Given the description of an element on the screen output the (x, y) to click on. 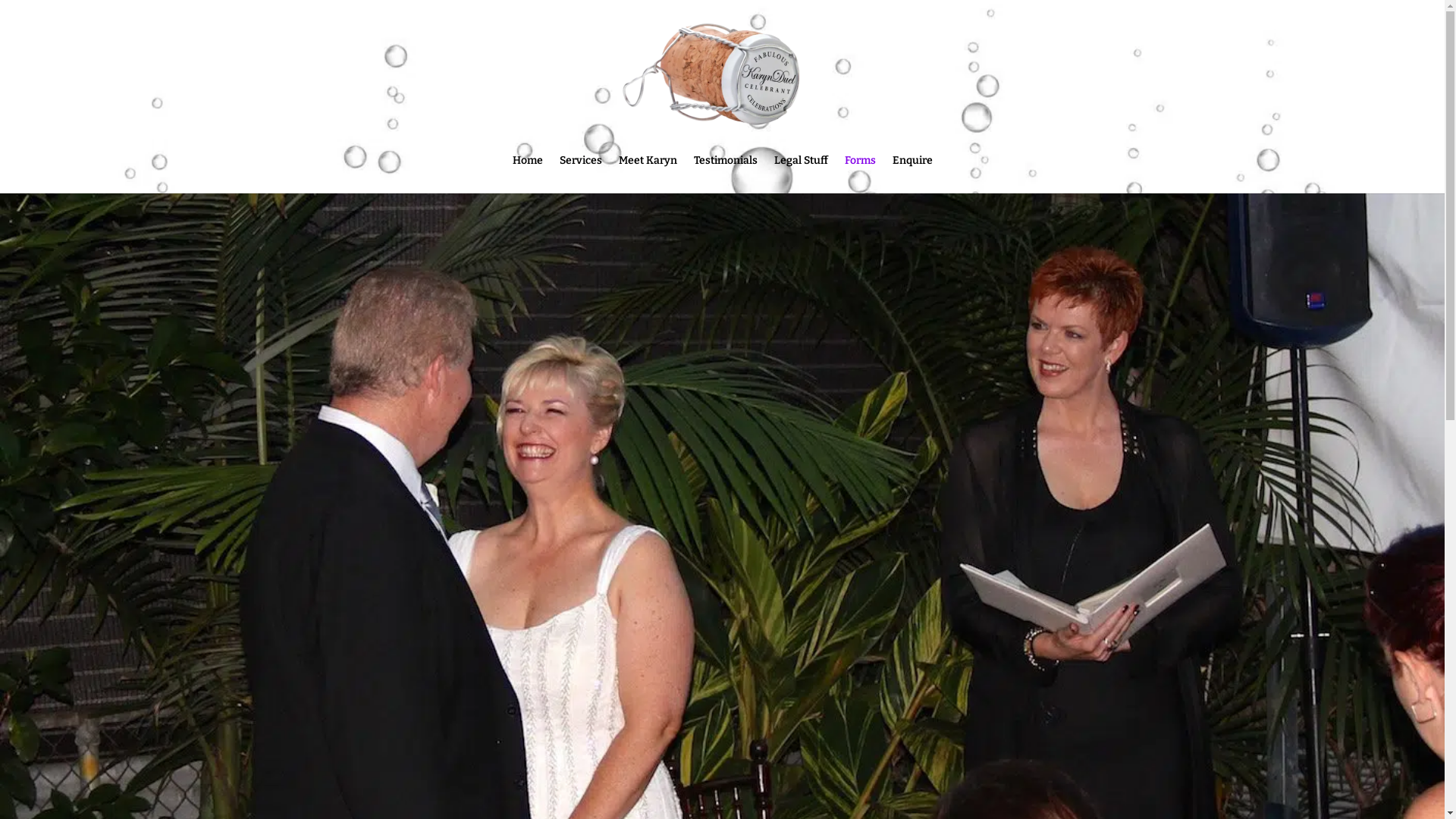
Enquire Element type: text (911, 174)
Meet Karyn Element type: text (647, 174)
Forms Element type: text (859, 174)
Legal Stuff Element type: text (800, 174)
Services Element type: text (580, 174)
Testimonials Element type: text (724, 174)
Home Element type: text (527, 174)
